Given the description of an element on the screen output the (x, y) to click on. 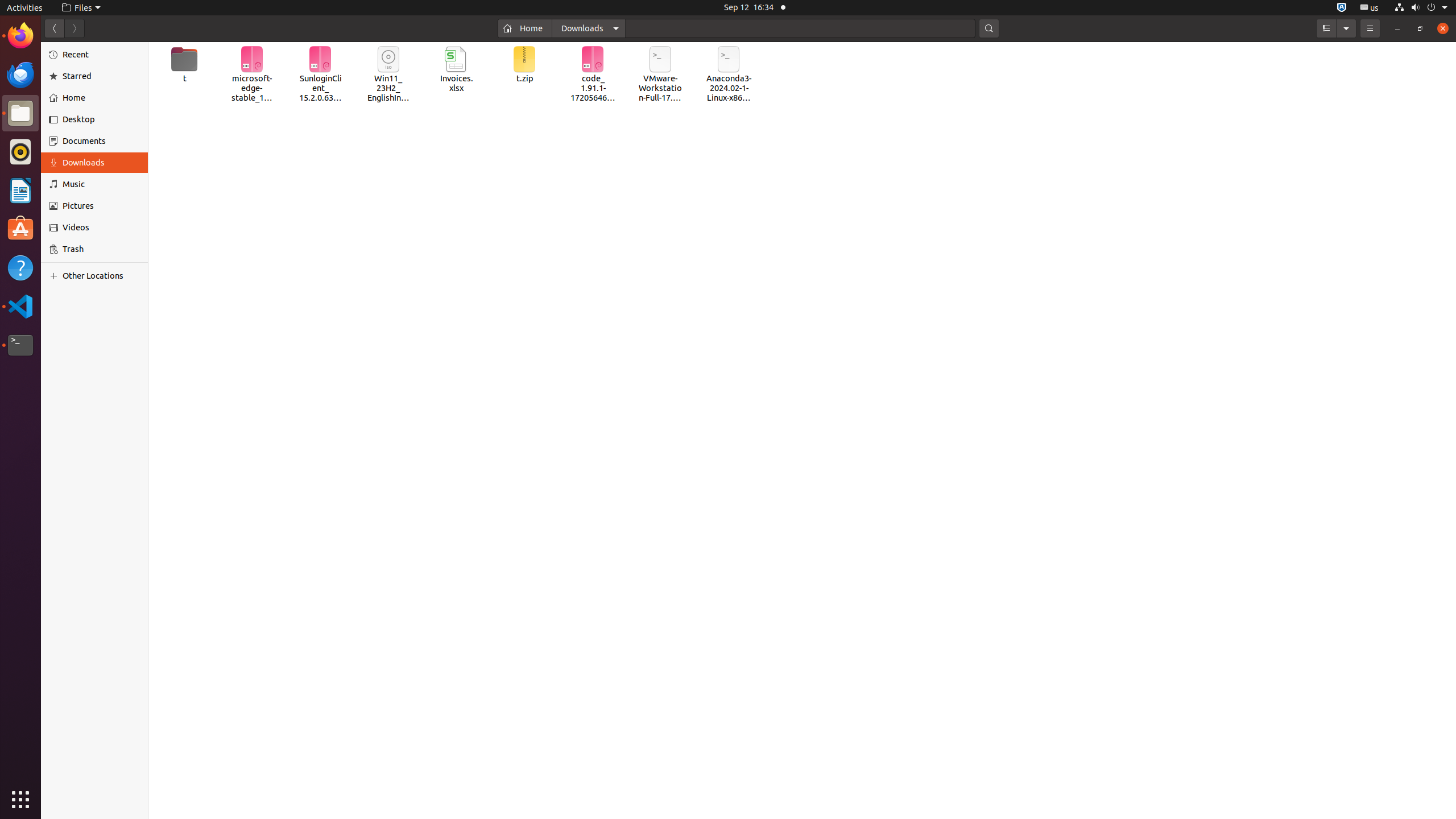
Starred Element type: label (100, 75)
IsaHelpMain.desktop Element type: label (75, 170)
Content View Element type: panel (802, 430)
